Given the description of an element on the screen output the (x, y) to click on. 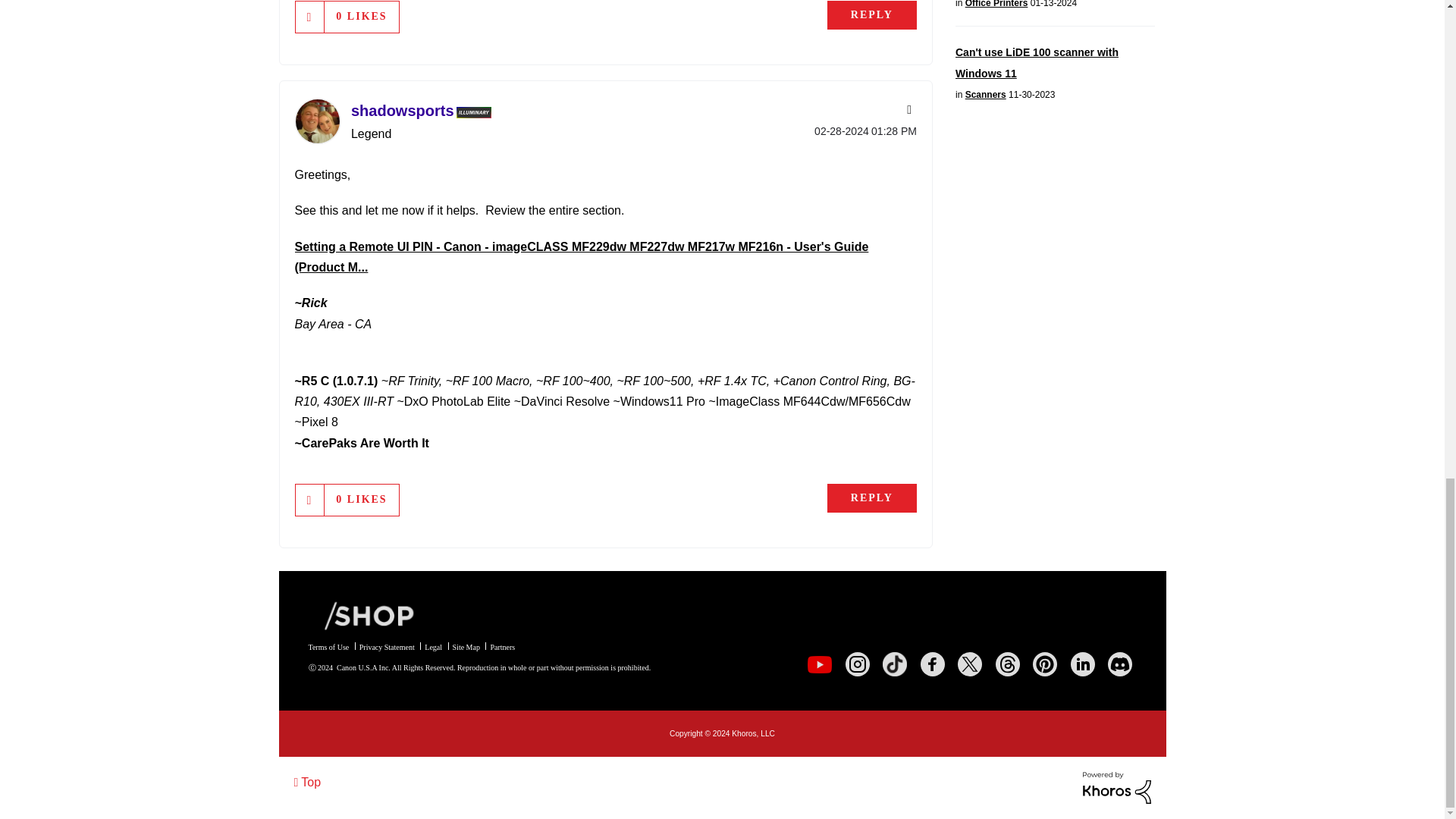
Top (307, 781)
Top (307, 781)
